Given the description of an element on the screen output the (x, y) to click on. 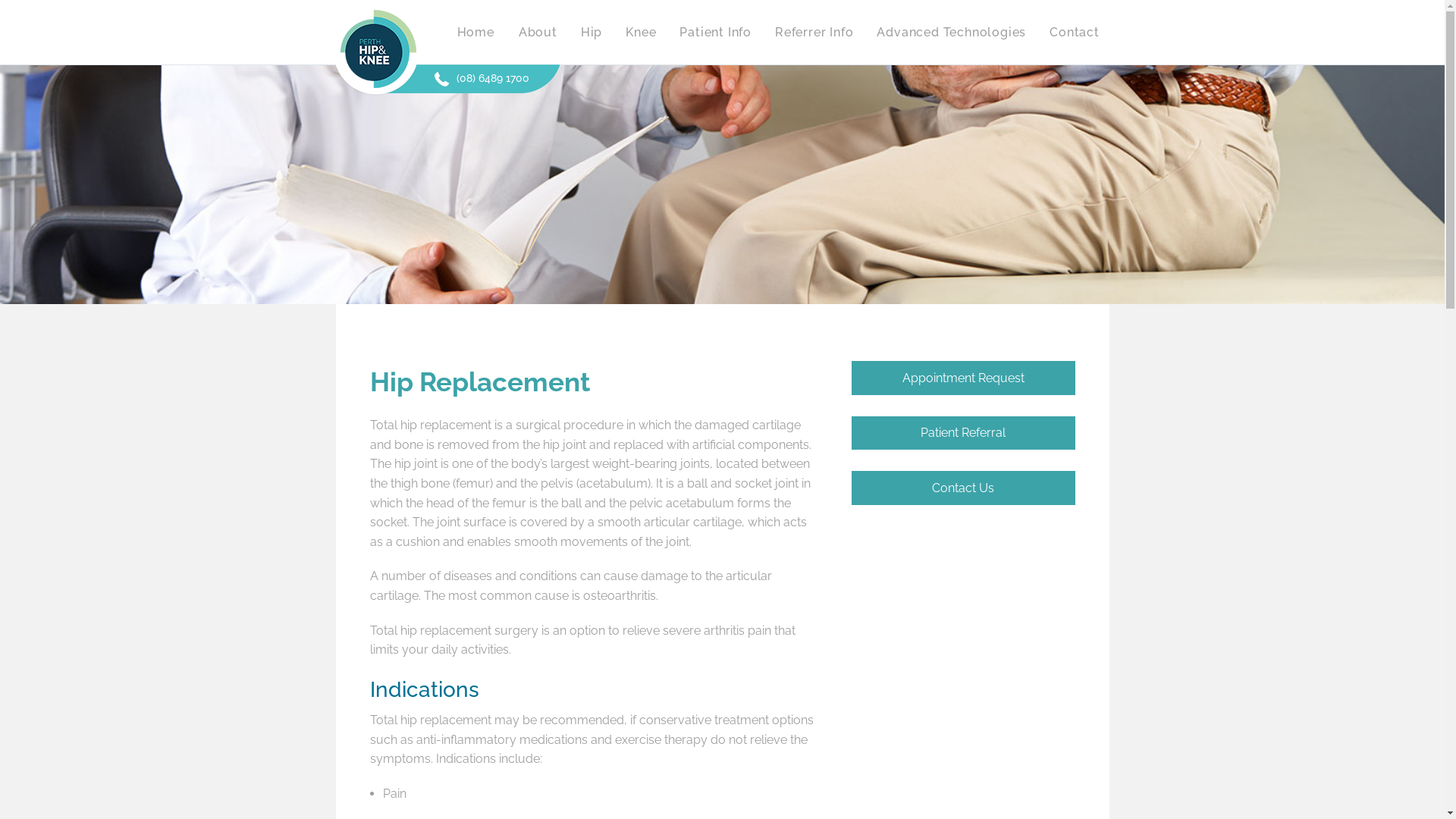
Useful Links Element type: text (714, 360)
Knee Replacement Element type: text (641, 81)
Conditions Element type: text (714, 151)
News Element type: text (714, 116)
Advanced Technologies Element type: text (950, 32)
Referrer Info Element type: text (813, 32)
Fees and Payment Element type: text (714, 325)
Contact Us Element type: text (962, 487)
Your First Visit Element type: text (714, 255)
Robotic Partial knee replacement Element type: text (950, 81)
Our Surgeons Element type: text (537, 116)
Contact Element type: text (1068, 32)
Appointment Request Element type: text (714, 290)
Robotic Total Hip Replacement Element type: text (950, 186)
Procedures Element type: text (714, 186)
Makoplasty Element type: text (950, 116)
Hip Procedures Element type: text (596, 151)
Hip Conditions Element type: text (596, 116)
Skip to main content Element type: text (56, 0)
Our Research Element type: text (537, 151)
Covid-19 Advisory Element type: text (714, 465)
Patient Info Element type: text (714, 32)
FAQ Element type: text (714, 81)
Knee Conditions Element type: text (641, 116)
Knee Procedures Element type: text (641, 151)
Mako Data Acquisition Project Information and Consent Element type: text (714, 395)
Patient Referral Element type: text (962, 433)
Hip Replacement Element type: text (596, 81)
Home Element type: text (480, 32)
(08) 6489 1700 Element type: text (480, 75)
Appointment Request Element type: text (962, 377)
Exercises Element type: text (714, 220)
Computer Assisted Knee Replacement Element type: text (950, 151)
Hip Element type: text (590, 32)
Robotic Total Knee Replacement Element type: text (950, 220)
Knee Element type: text (640, 32)
Post-operative Protocols Element type: text (813, 151)
Urgent Referrals Element type: text (813, 116)
Prospective Consent PICF Research Registry Element type: text (714, 430)
Patient Referral Element type: text (813, 81)
Our Practice Element type: text (537, 81)
About Element type: text (537, 32)
